Given the description of an element on the screen output the (x, y) to click on. 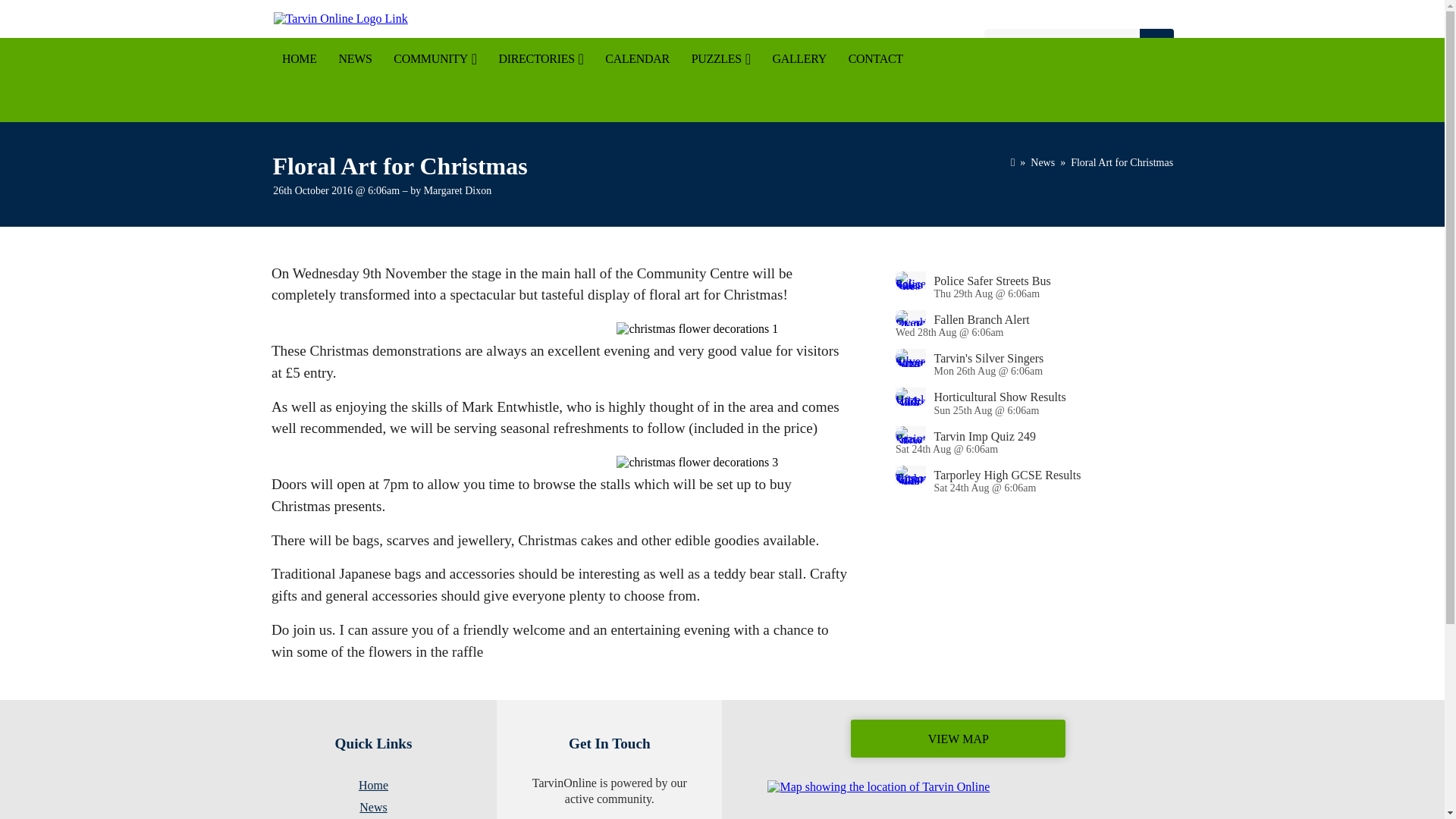
COMMUNITY (434, 58)
GO (1155, 41)
Search... (1065, 41)
NEWS (354, 58)
Tarvin Online Home (385, 18)
HOME (299, 58)
News (1042, 162)
CALENDAR (636, 58)
GALLERY (799, 58)
DIRECTORIES (540, 58)
